Given the description of an element on the screen output the (x, y) to click on. 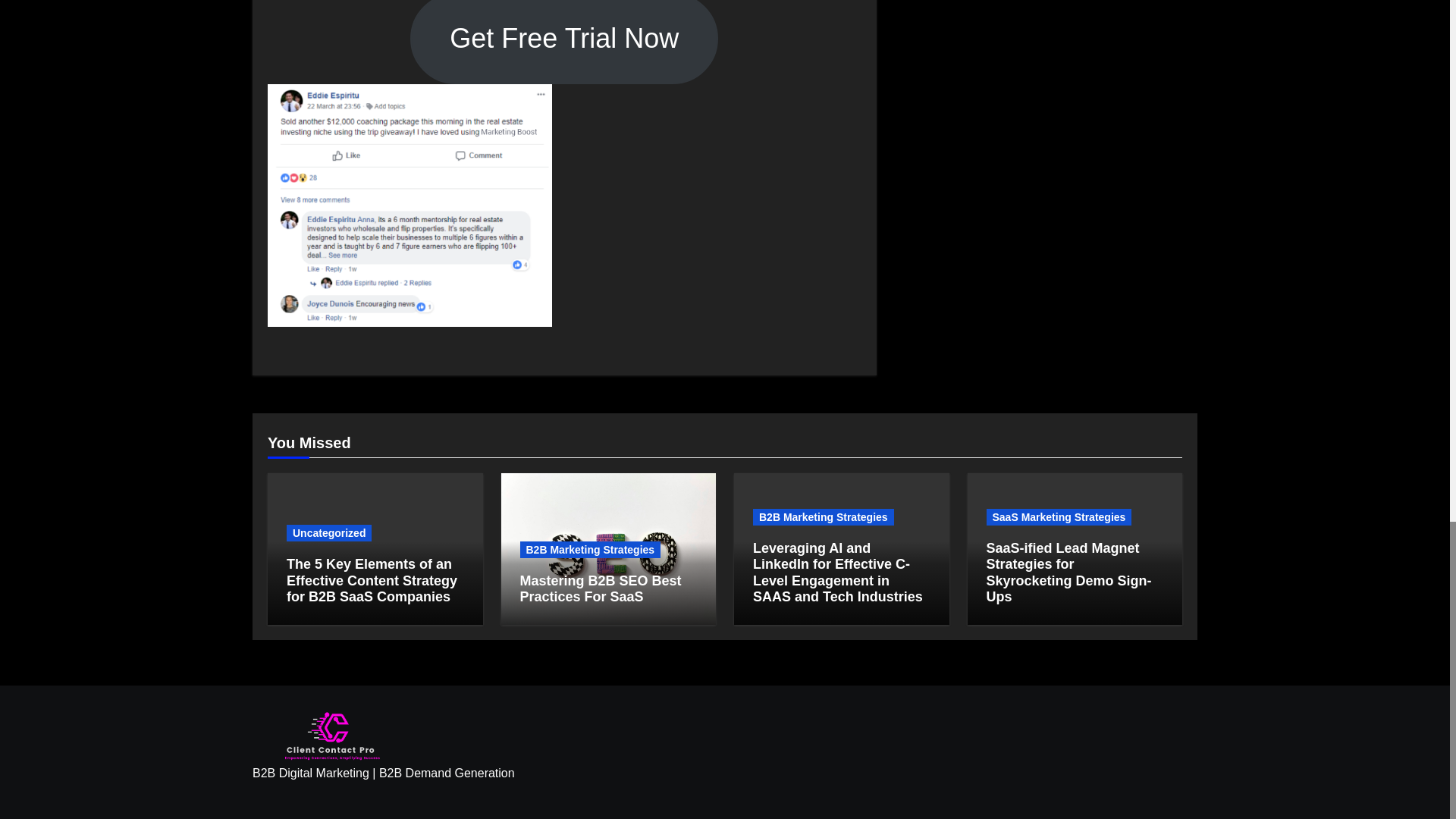
SaaS Marketing Strategies (1058, 516)
B2B Marketing Strategies (590, 549)
Get Free Trial Now (563, 42)
Uncategorized (328, 532)
Permalink to: Mastering B2B SEO Best Practices For SaaS (600, 589)
Mastering B2B SEO Best Practices For SaaS (600, 589)
B2B Marketing Strategies (822, 516)
